Given the description of an element on the screen output the (x, y) to click on. 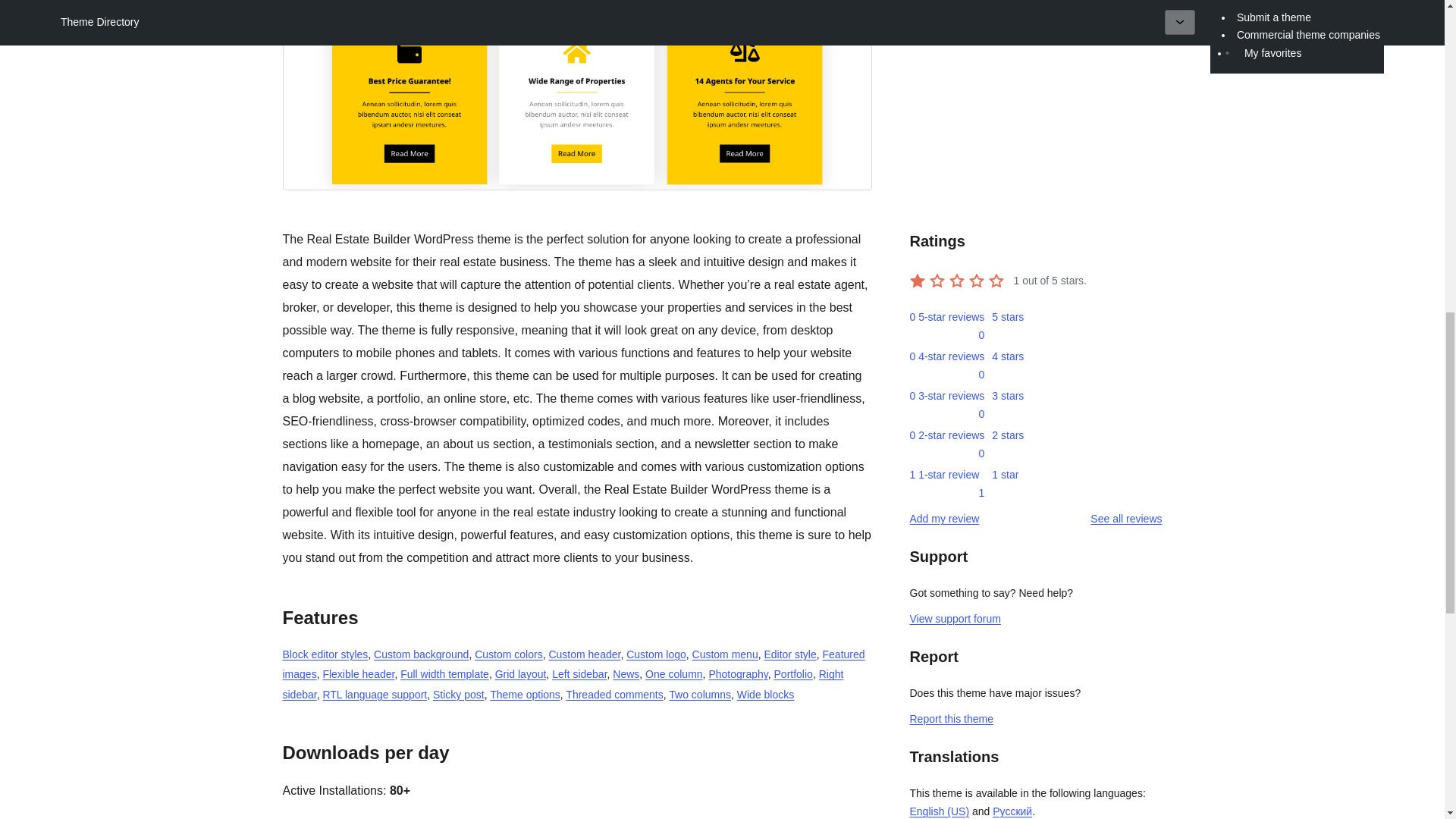
Custom header (584, 654)
Featured images (573, 664)
Full width template (444, 674)
Custom menu (725, 654)
Theme homepage (958, 35)
Flexible header (357, 674)
Block editor styles (325, 654)
Custom colors (507, 654)
Custom background (421, 654)
Custom logo (655, 654)
Editor style (788, 654)
